Given the description of an element on the screen output the (x, y) to click on. 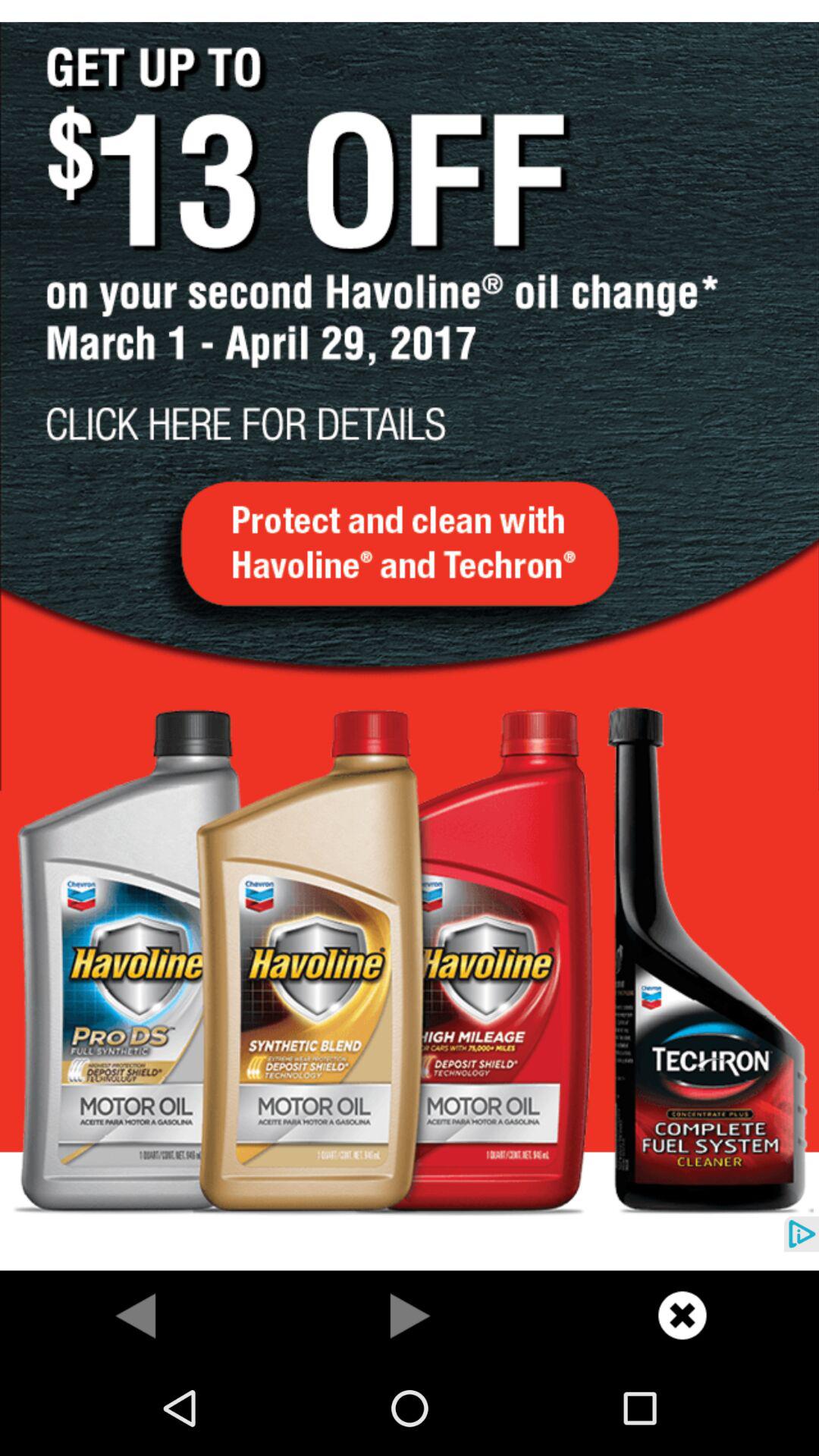
click x button (682, 1315)
